Given the description of an element on the screen output the (x, y) to click on. 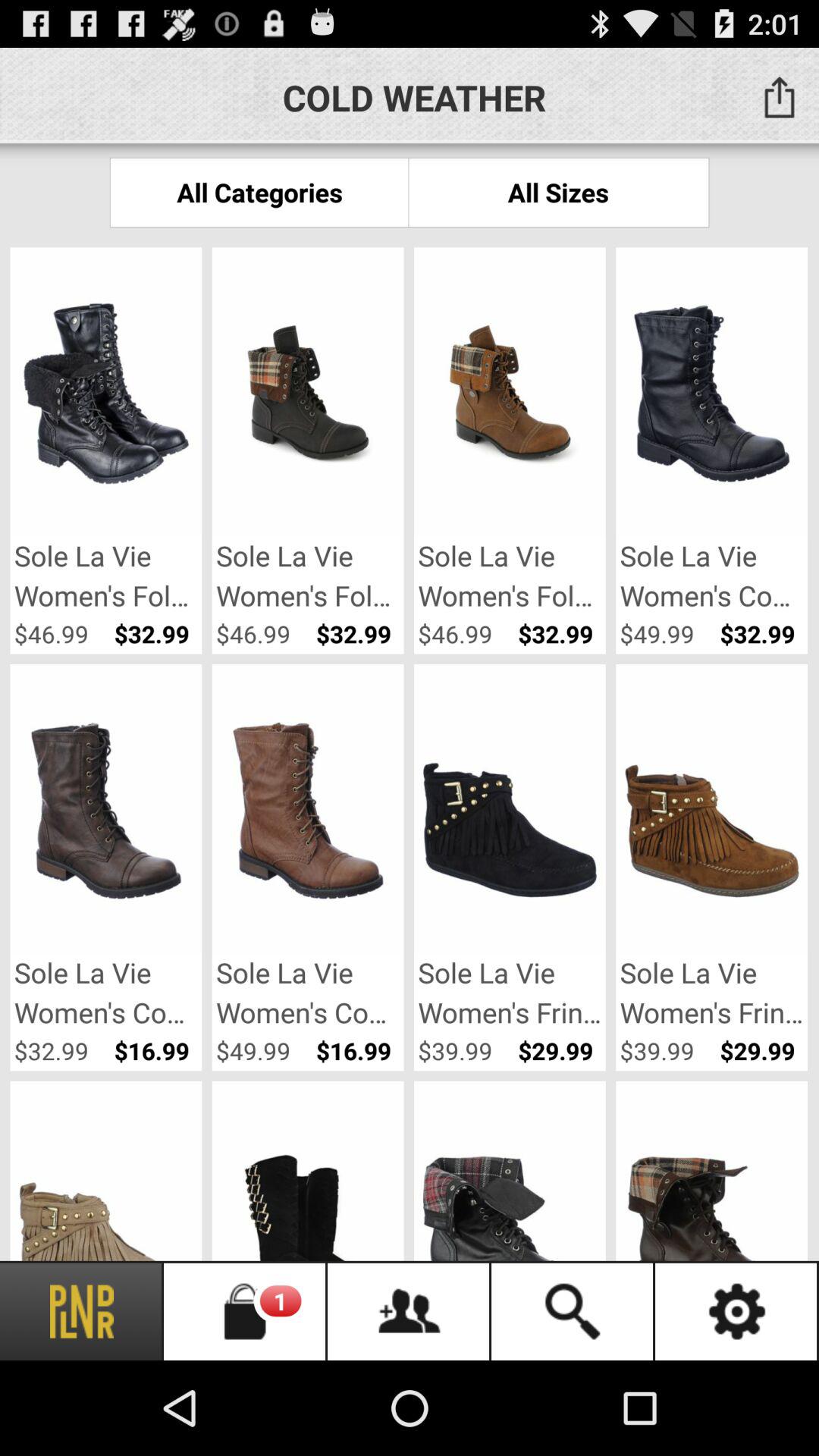
jump to all sizes icon (558, 192)
